Given the description of an element on the screen output the (x, y) to click on. 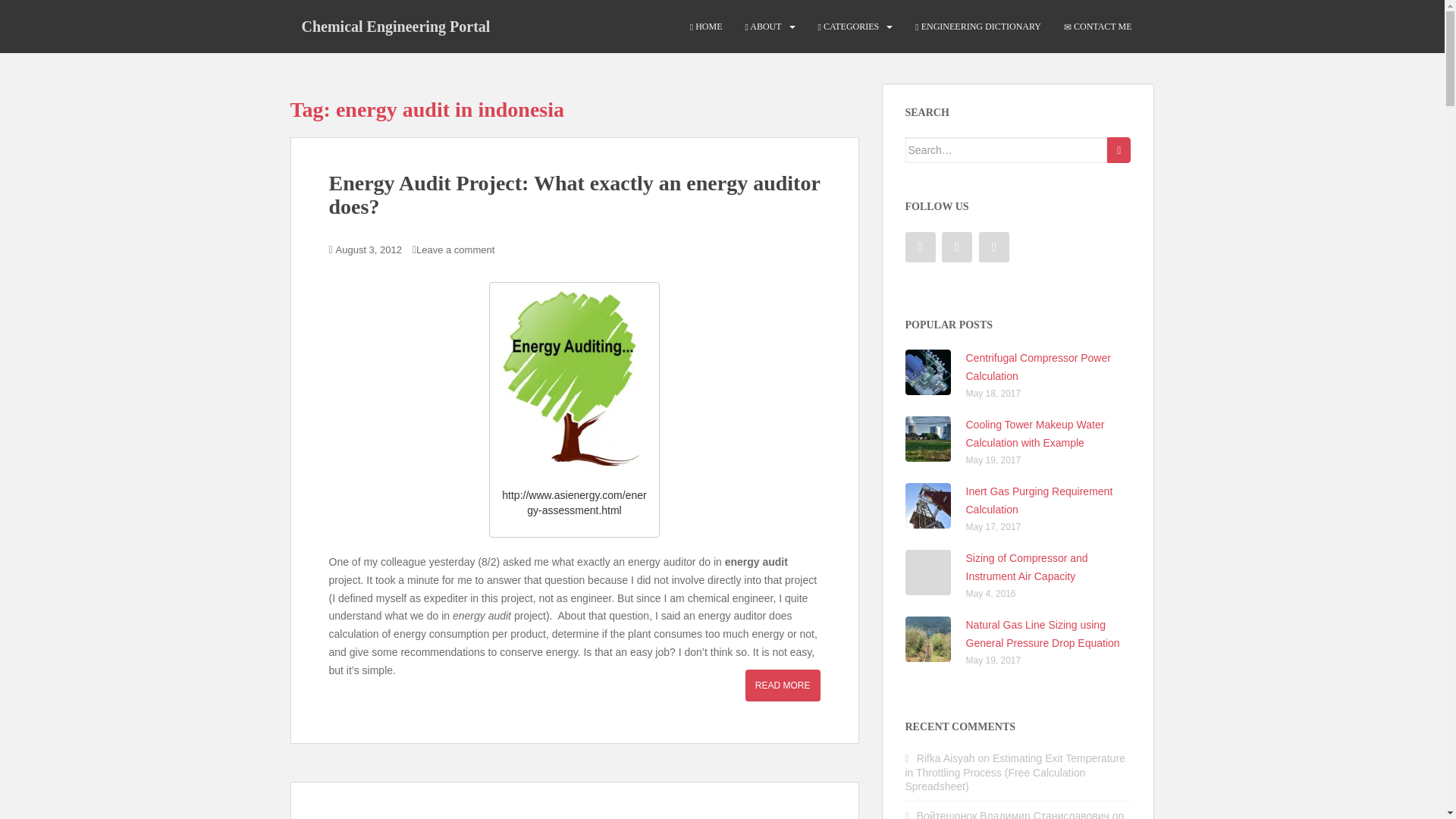
 ENGINEERING DICTIONARY (978, 26)
Engineering Dictionary (978, 26)
About (762, 26)
Chemical Engineering Portal (394, 26)
Categories (848, 26)
 HOME (706, 26)
Contact Me (1098, 26)
 CATEGORIES (848, 26)
 ABOUT (762, 26)
Chemical Engineering Portal (394, 26)
